Given the description of an element on the screen output the (x, y) to click on. 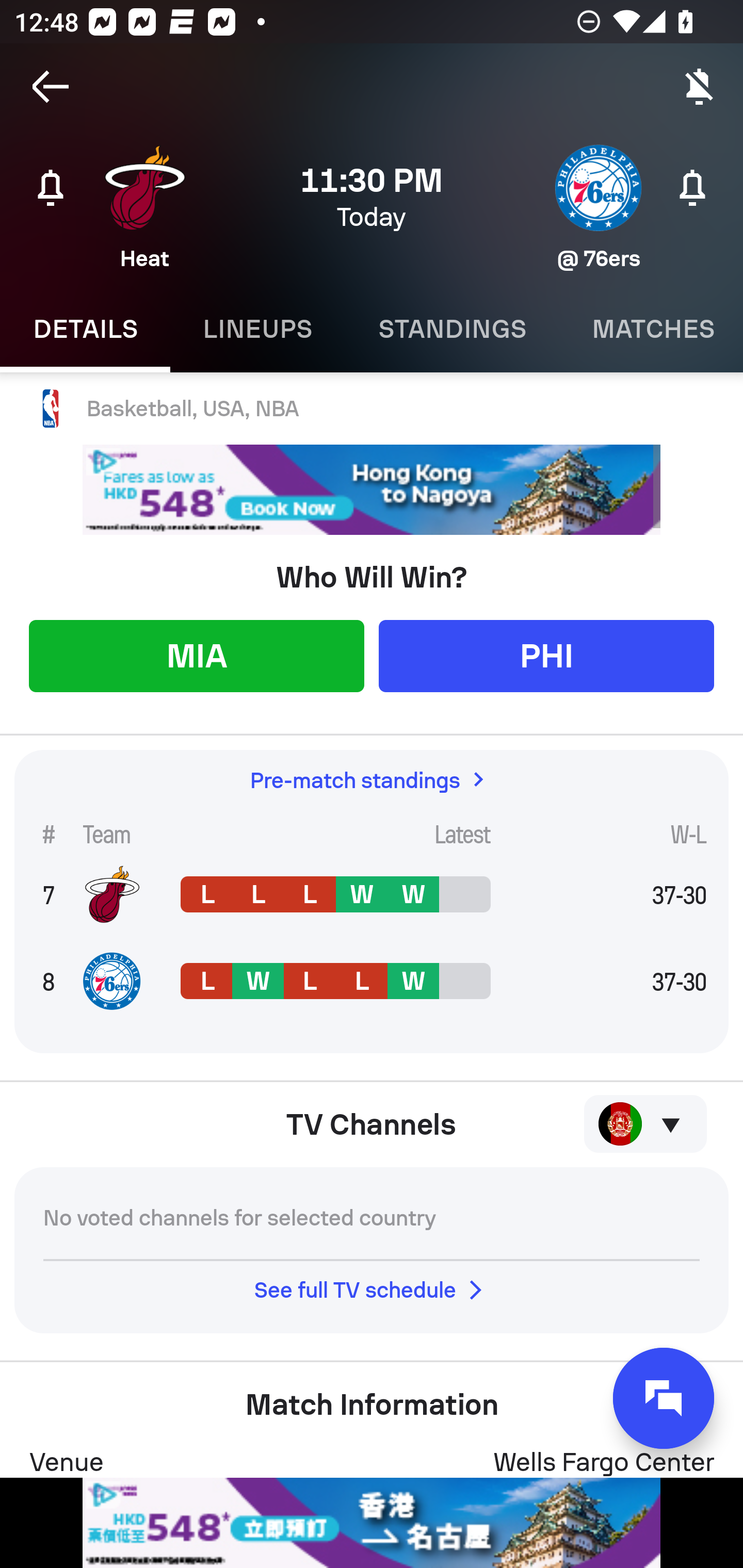
Navigate up (50, 86)
Lineups LINEUPS (257, 329)
Standings STANDINGS (451, 329)
Matches MATCHES (650, 329)
Basketball, USA, NBA (371, 409)
wi46309w_320x50 (371, 489)
MIA (196, 655)
PHI (546, 655)
See full TV schedule (371, 1289)
CHAT (663, 1398)
ysfecx5i_320x50 (371, 1522)
